Given the description of an element on the screen output the (x, y) to click on. 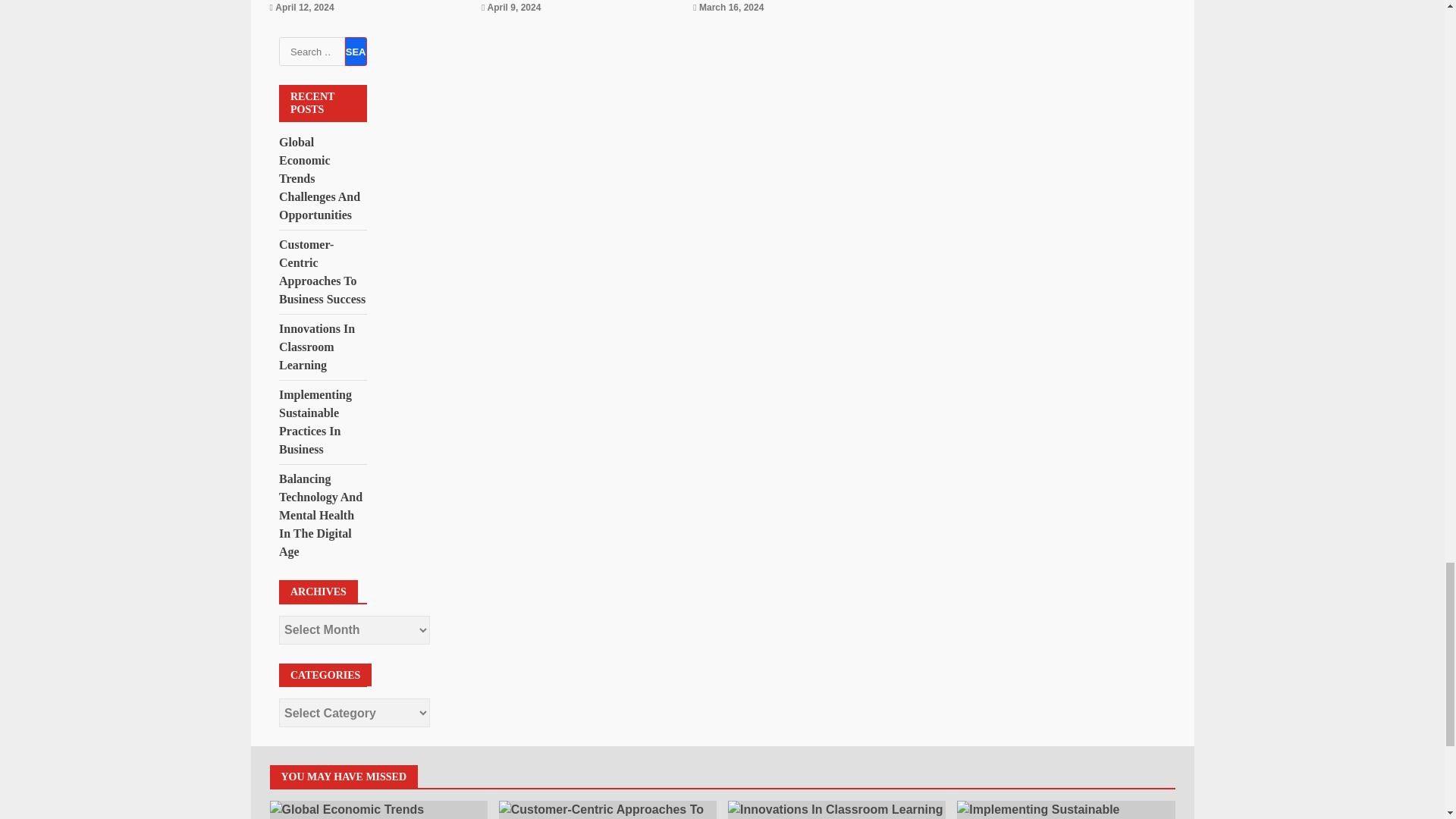
Implementing Sustainable Practices In Business (1065, 809)
Global Economic Trends Challenges And Opportunities (378, 809)
Innovations In Classroom Learning (836, 809)
Customer-Centric Approaches To Business Success (607, 809)
